Given the description of an element on the screen output the (x, y) to click on. 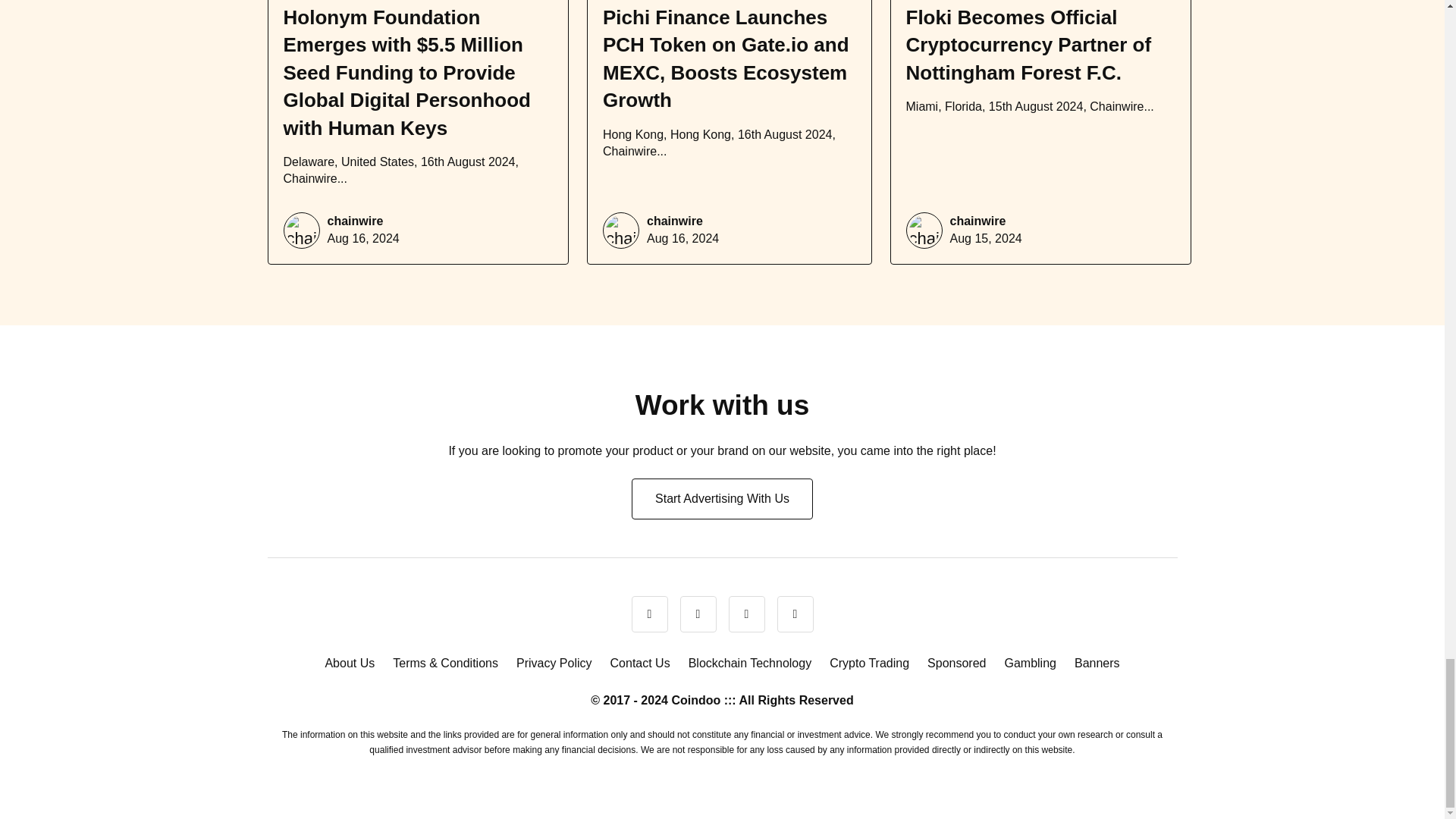
chainwire (355, 221)
chainwire (674, 221)
